Given the description of an element on the screen output the (x, y) to click on. 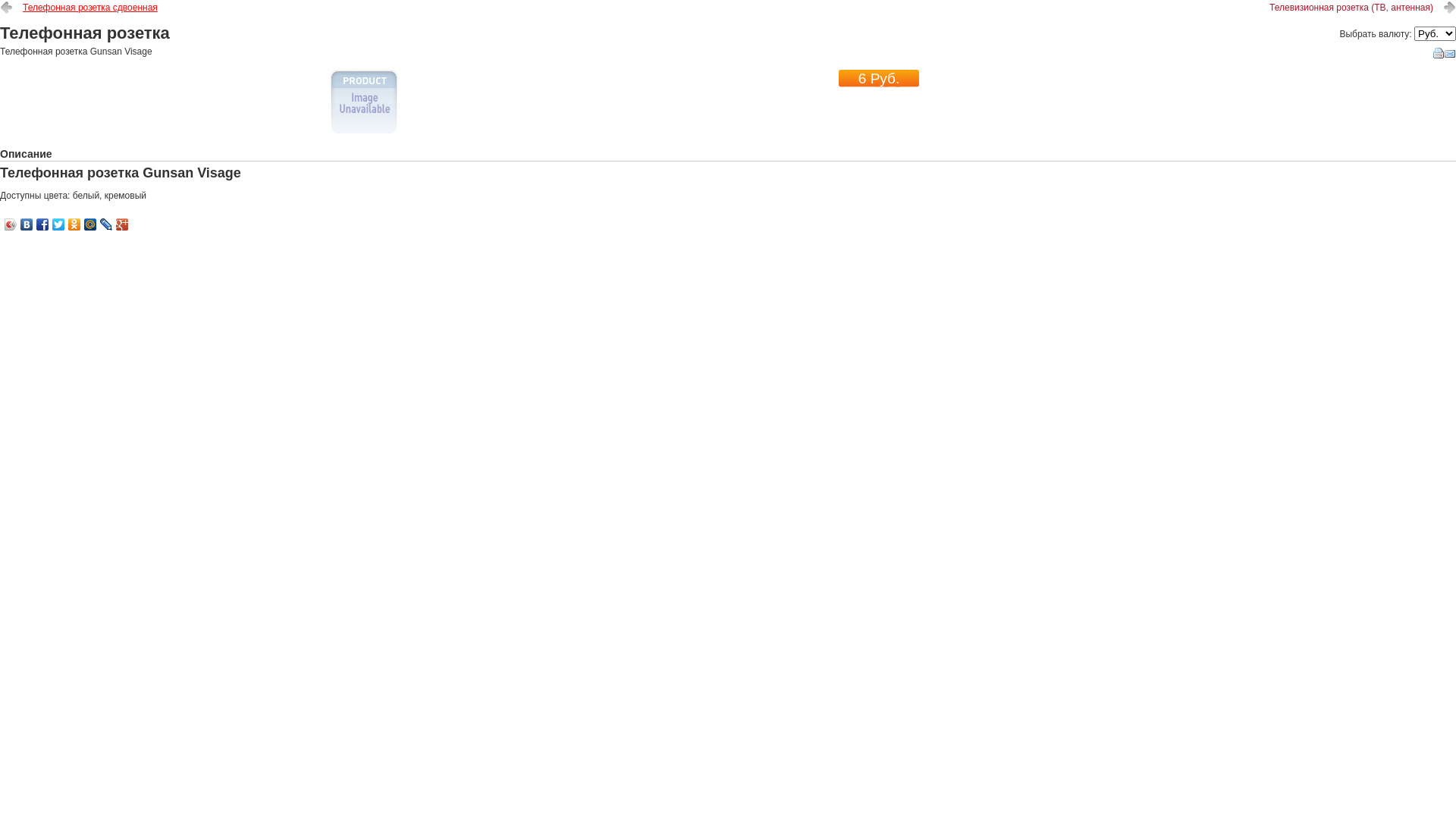
Google Plus Element type: hover (122, 224)
Twitter Element type: hover (58, 224)
LiveJournal Element type: hover (106, 224)
Facebook Element type: hover (42, 224)
